Given the description of an element on the screen output the (x, y) to click on. 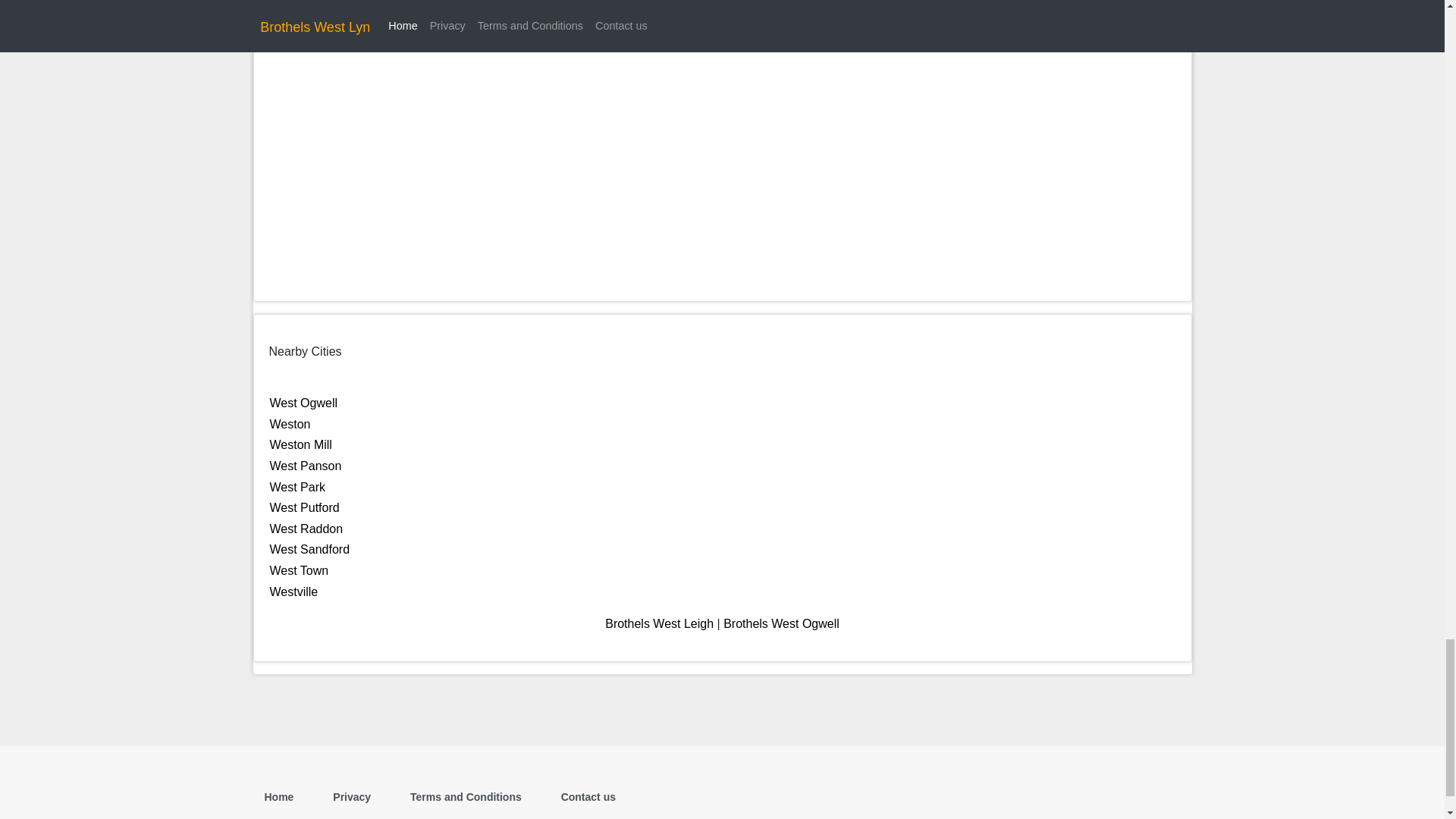
West Panson (305, 465)
Weston Mill (300, 444)
Brothels West Ogwell (781, 623)
West Town (299, 570)
West Sandford (309, 549)
West Raddon (306, 528)
Westville (293, 591)
Weston (290, 423)
West Park (297, 486)
West Putford (304, 507)
